Given the description of an element on the screen output the (x, y) to click on. 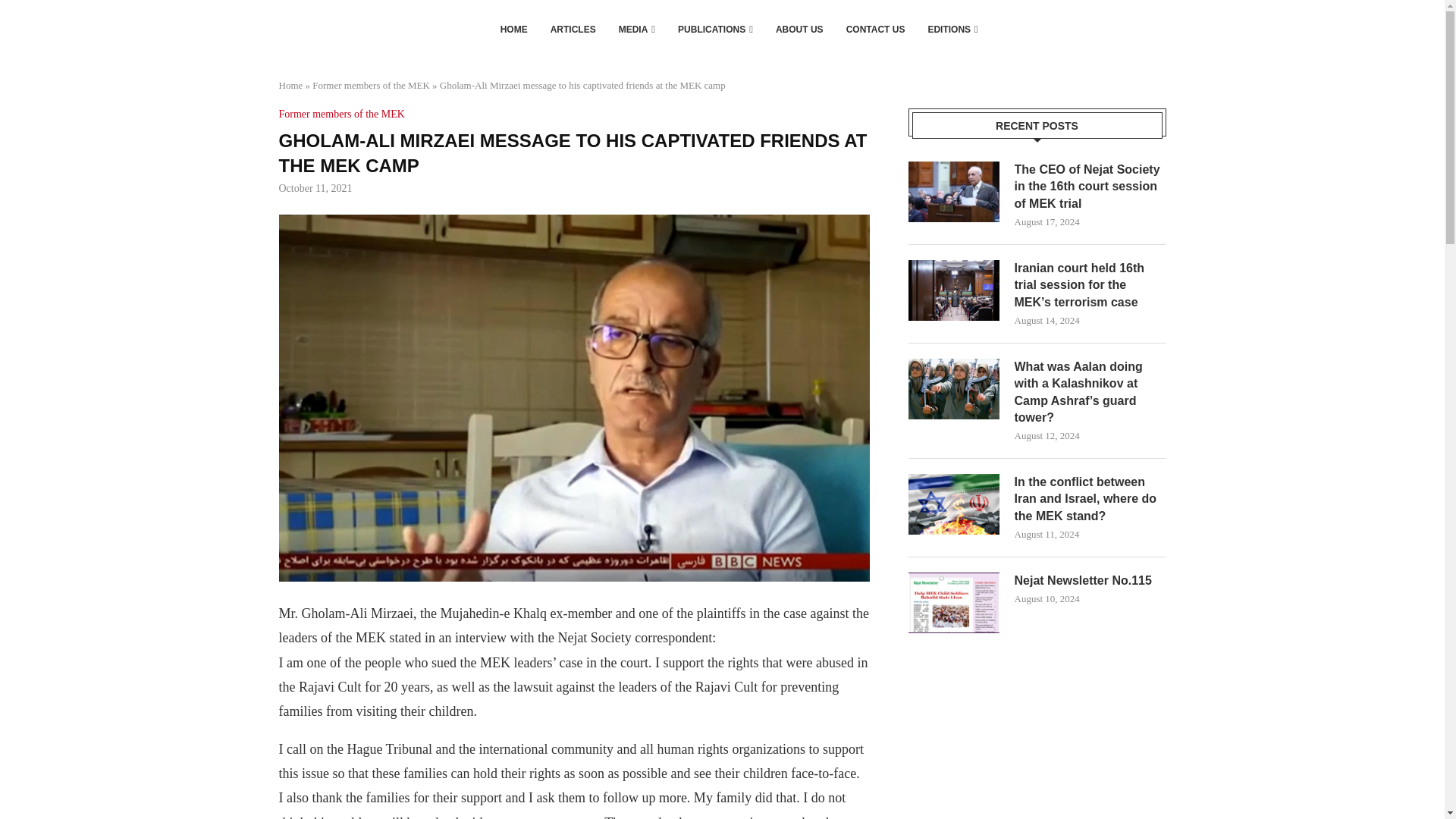
ARTICLES (572, 29)
CONTACT US (875, 29)
EDITIONS (951, 29)
ABOUT US (800, 29)
PUBLICATIONS (715, 29)
